Given the description of an element on the screen output the (x, y) to click on. 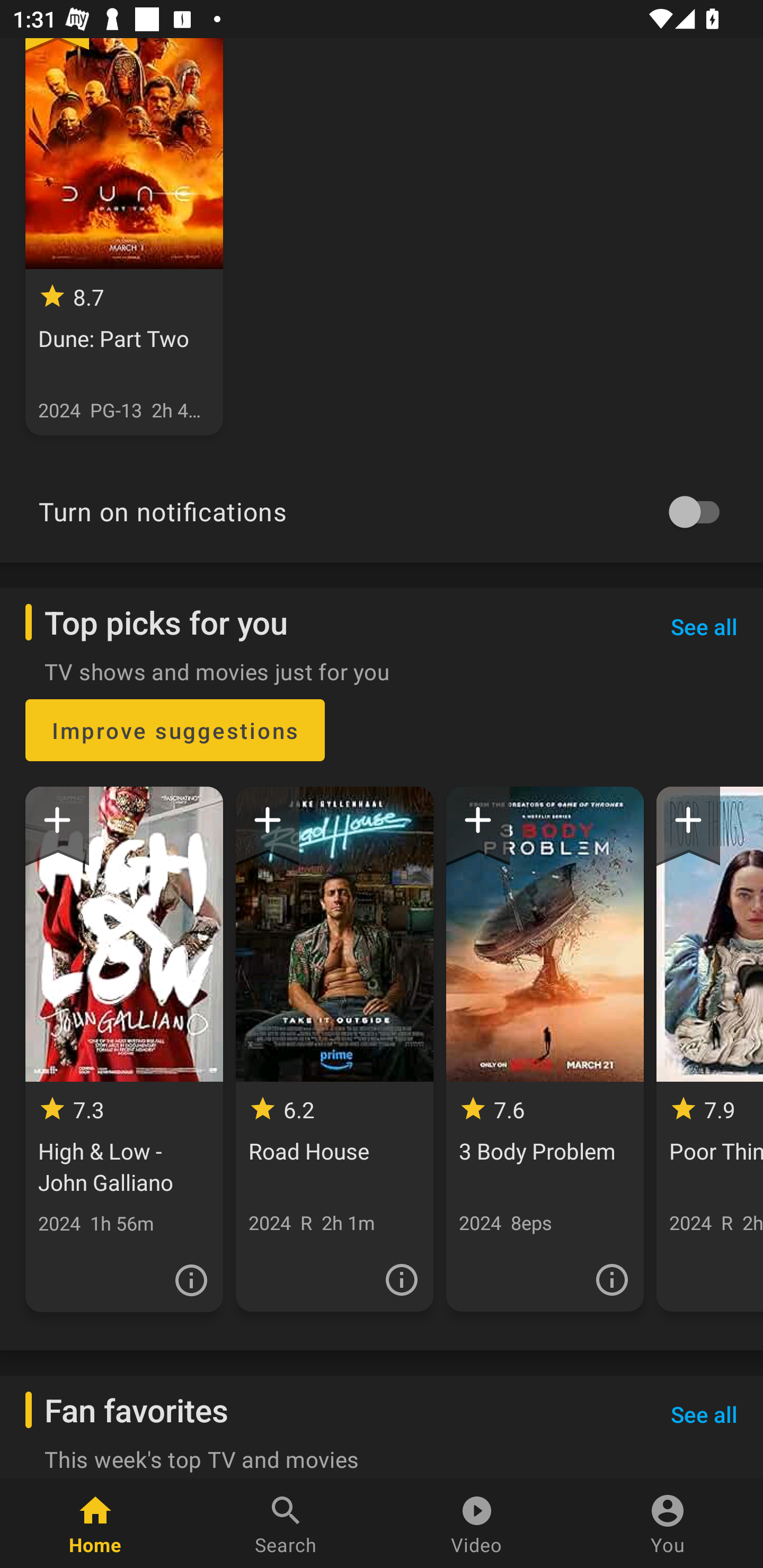
8.7 Dune: Part Two 2024  PG-13  2h 46m (123, 236)
See all See all Top picks for you (703, 626)
Improve suggestions (175, 729)
7.3 High & Low - John Galliano 2024  1h 56m (123, 1049)
6.2 Road House 2024  R  2h 1m (334, 1048)
7.6 3 Body Problem 2024  8eps (544, 1048)
See all See all Fan favorites (703, 1413)
Search (285, 1523)
Video (476, 1523)
You (667, 1523)
